Given the description of an element on the screen output the (x, y) to click on. 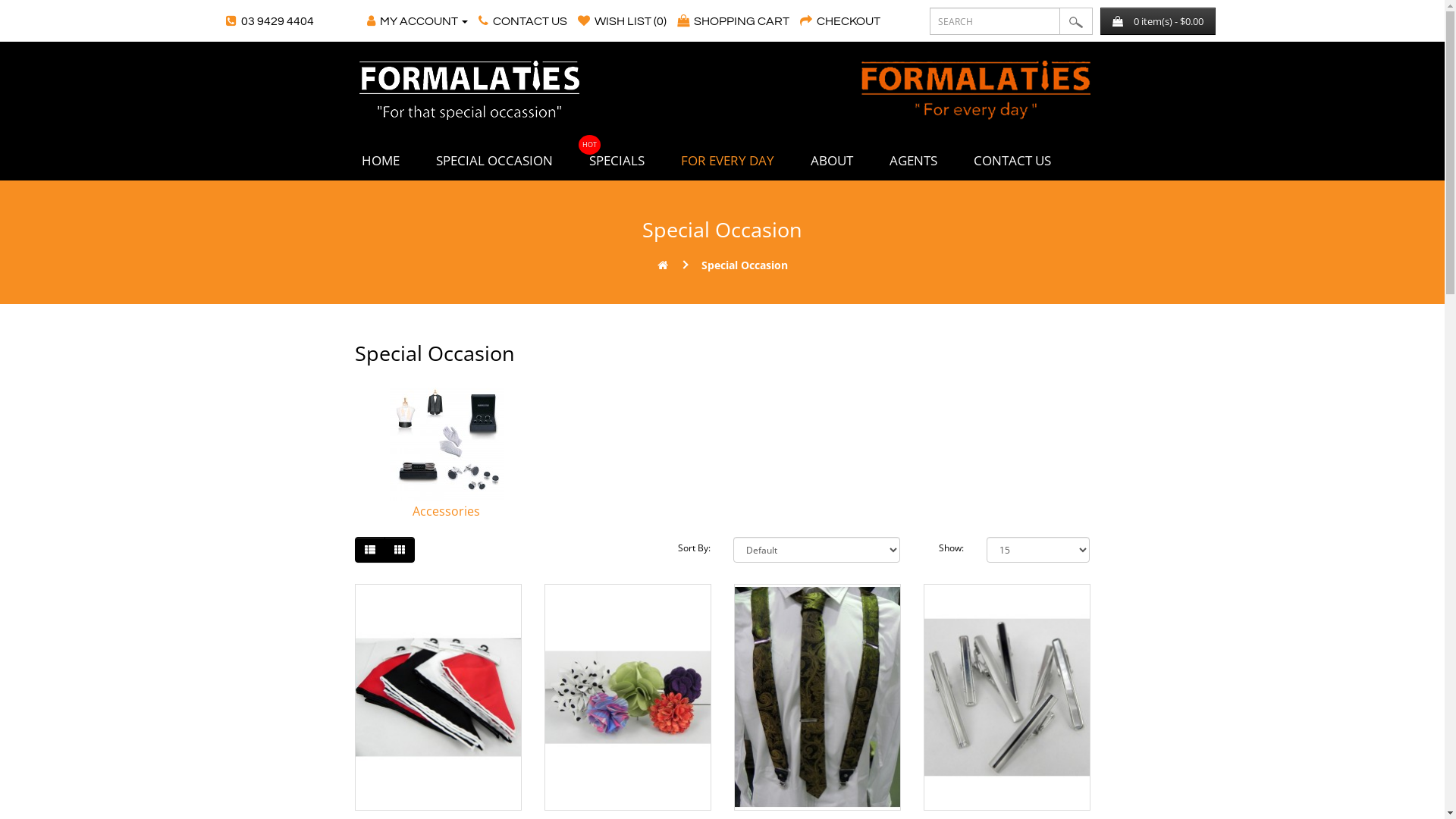
 WISH LIST (0) Element type: text (621, 21)
SPECIAL OCCASION Element type: text (493, 163)
Accessories Element type: text (446, 510)
 MY ACCOUNT Element type: text (417, 21)
CONTACT US Element type: text (1012, 163)
Tie Bars Element type: hover (1006, 697)
Flower Lapel Pins Element type: hover (627, 697)
ABOUT Element type: text (830, 163)
 SHOPPING CART Element type: text (733, 21)
For every day Element type: hover (974, 89)
SPECIALS
HOT Element type: text (616, 163)
 CHECKOUT Element type: text (840, 21)
For that special occassion Element type: hover (469, 89)
Special Occasion Element type: text (743, 264)
AGENTS Element type: text (912, 163)
Tapestry Braces Element type: hover (817, 697)
FOR EVERY DAY Element type: text (727, 163)
HOME Element type: text (379, 163)
2 Tone Hankies Element type: hover (437, 697)
   0 item(s) - $0.00 Element type: text (1156, 20)
 CONTACT US Element type: text (522, 21)
  03 9429 4404 Element type: text (269, 21)
